Given the description of an element on the screen output the (x, y) to click on. 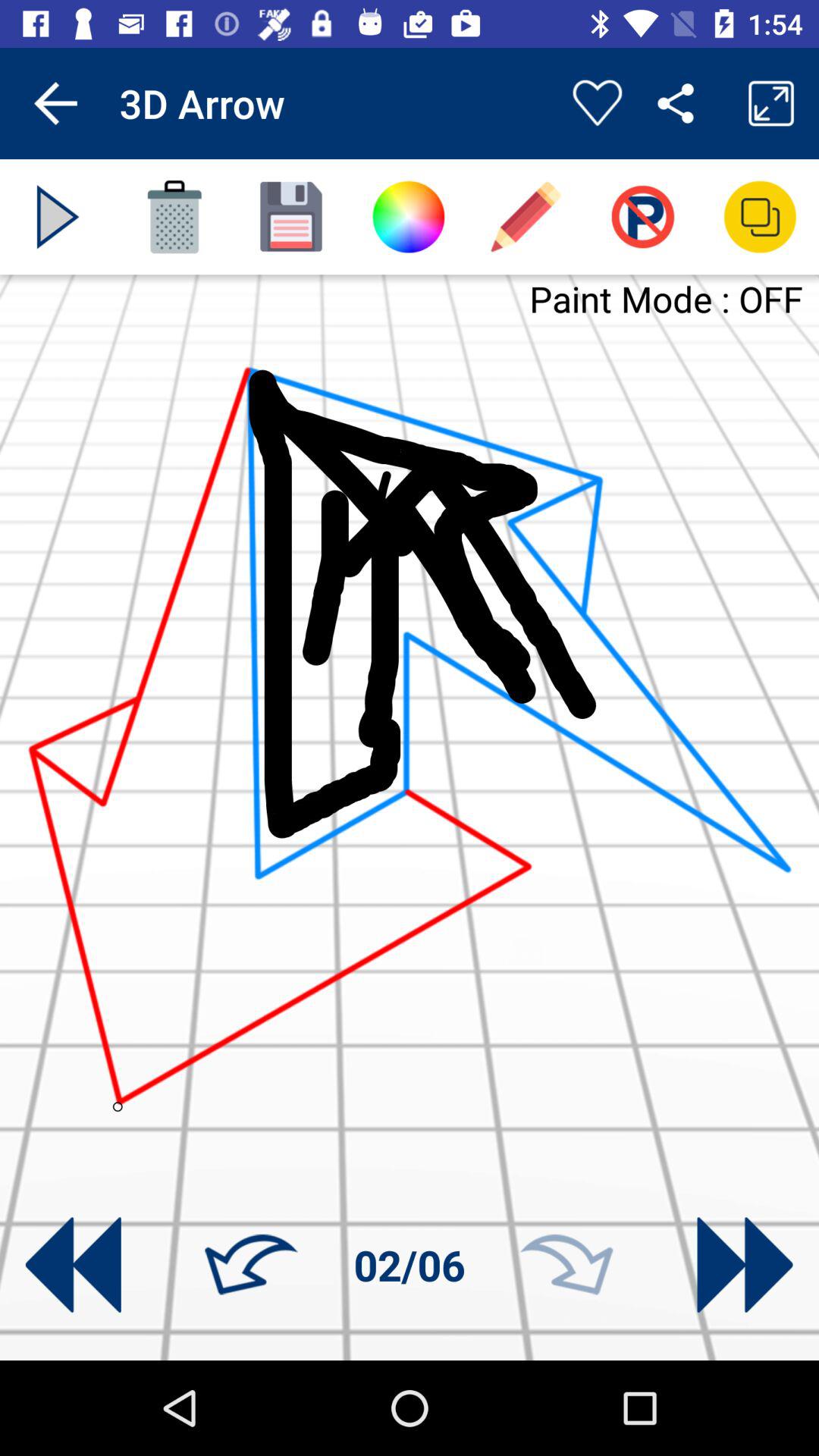
go next (744, 1264)
